Given the description of an element on the screen output the (x, y) to click on. 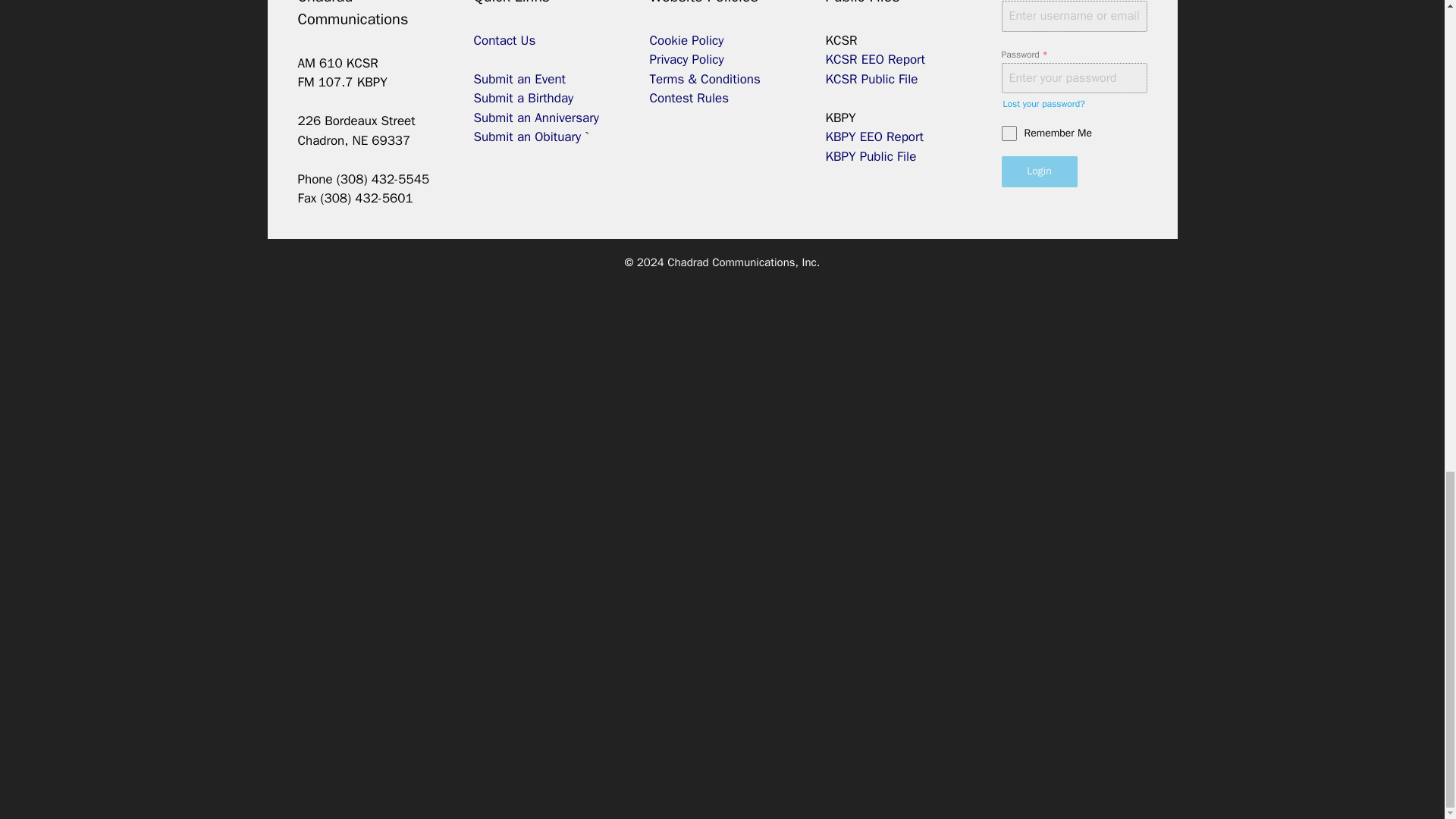
Remember Me (1074, 133)
Lost Password (1043, 103)
